Given the description of an element on the screen output the (x, y) to click on. 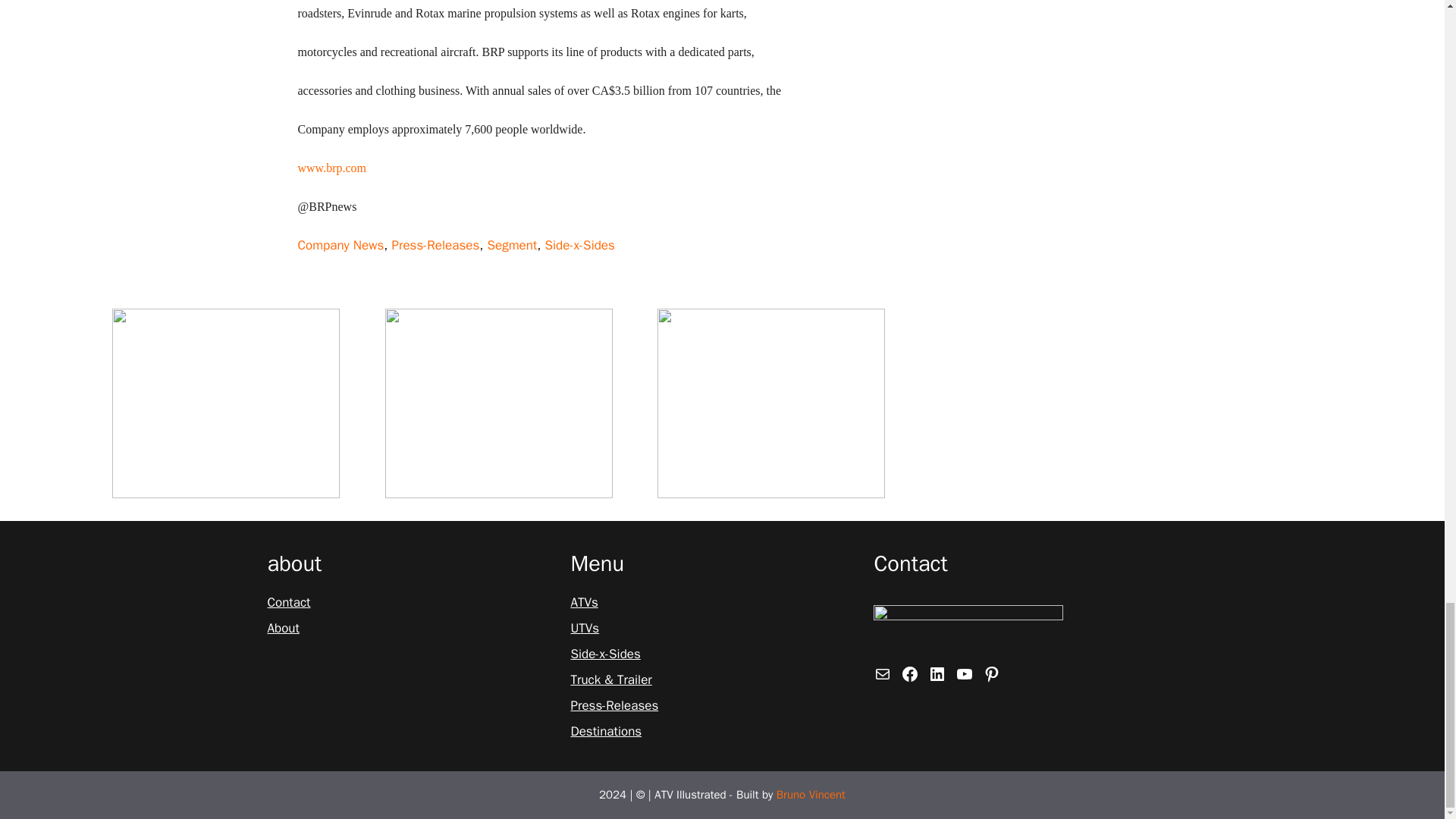
ATVs (583, 602)
Logo-250-w (967, 629)
www.brp.com (331, 167)
Side-x-Sides (579, 245)
Segment (511, 245)
Contact (288, 602)
UTVs (584, 628)
Company News (340, 245)
About (282, 628)
Press-Releases (435, 245)
